Given the description of an element on the screen output the (x, y) to click on. 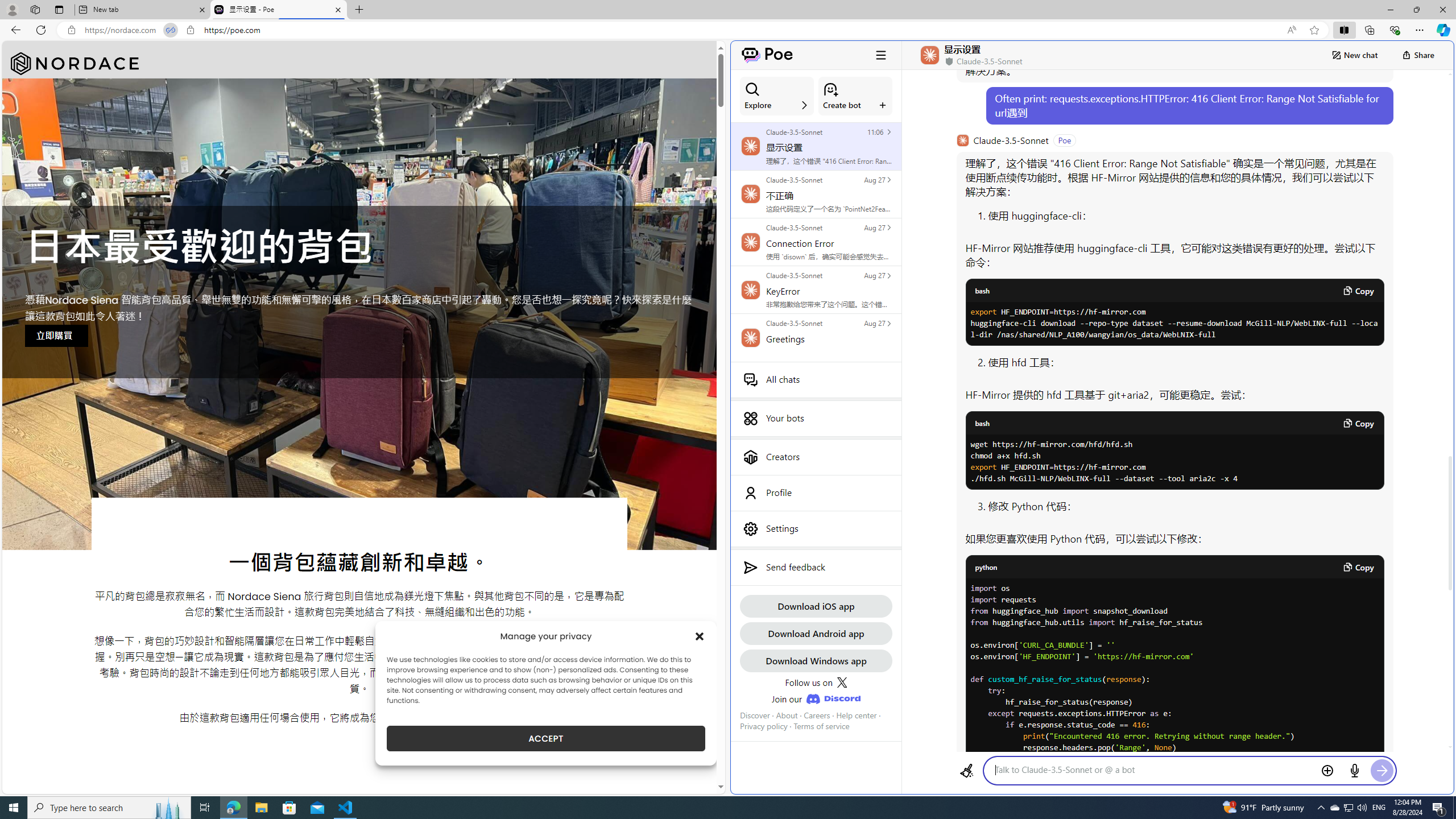
Share (1417, 54)
Class: JoinDiscordLink_discordIcon__Xw13A (833, 698)
Class: ToggleSidebarCollapseButton_hamburgerIcon__VuiyV (880, 55)
Careers (816, 714)
Class: ChatPrivacyIndicator_shieldIcon__4JelG (948, 61)
Settings (815, 528)
Class: cmplz-close (699, 636)
